Given the description of an element on the screen output the (x, y) to click on. 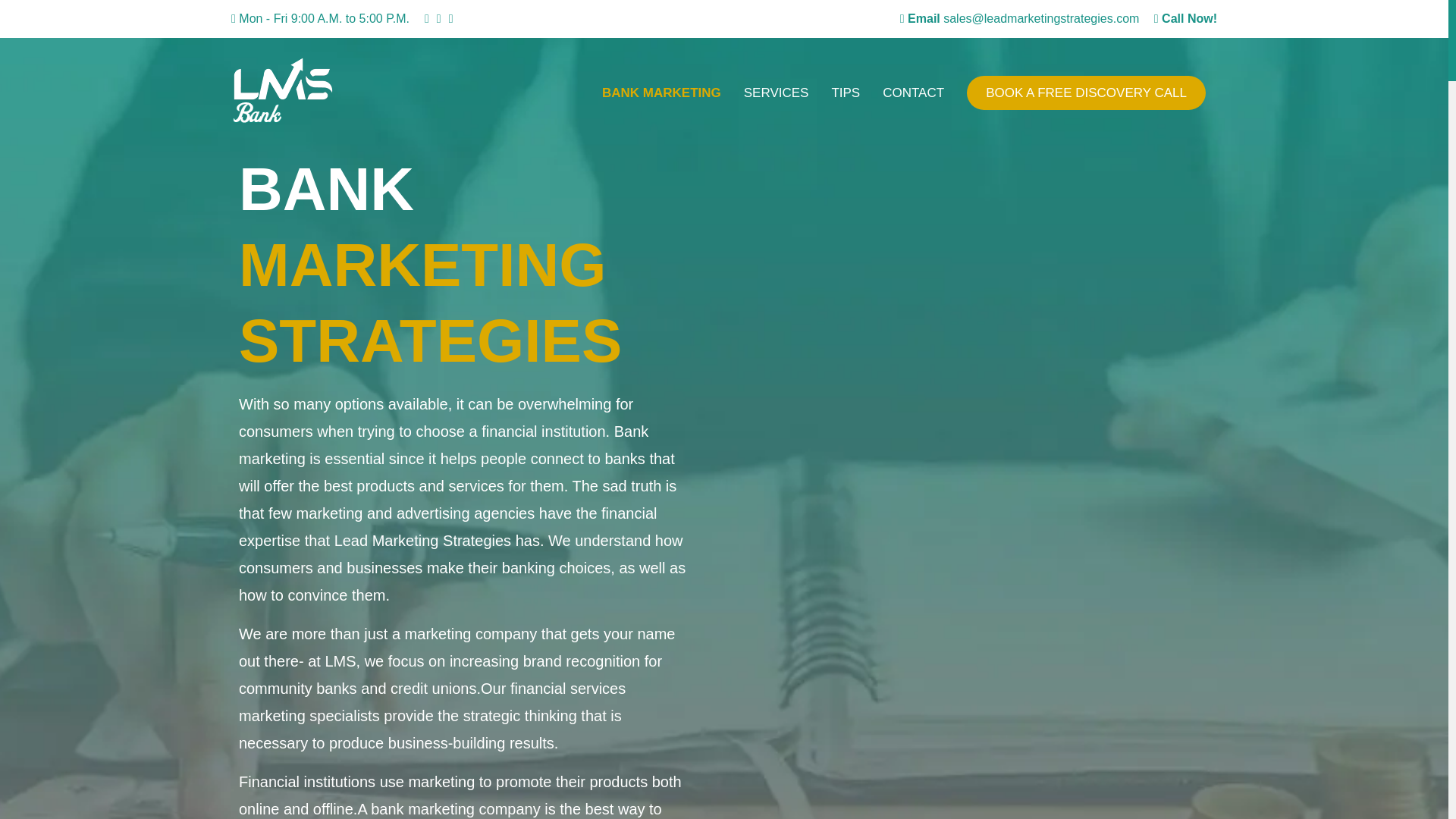
TIPS (844, 92)
SERVICES (776, 92)
Tips (844, 92)
Call Now! (1185, 18)
BANK MARKETING (661, 92)
Contact (912, 92)
Bank Marketing (661, 92)
Services (776, 92)
CONTACT (912, 92)
BOOK A FREE DISCOVERY CALL (1086, 92)
